Given the description of an element on the screen output the (x, y) to click on. 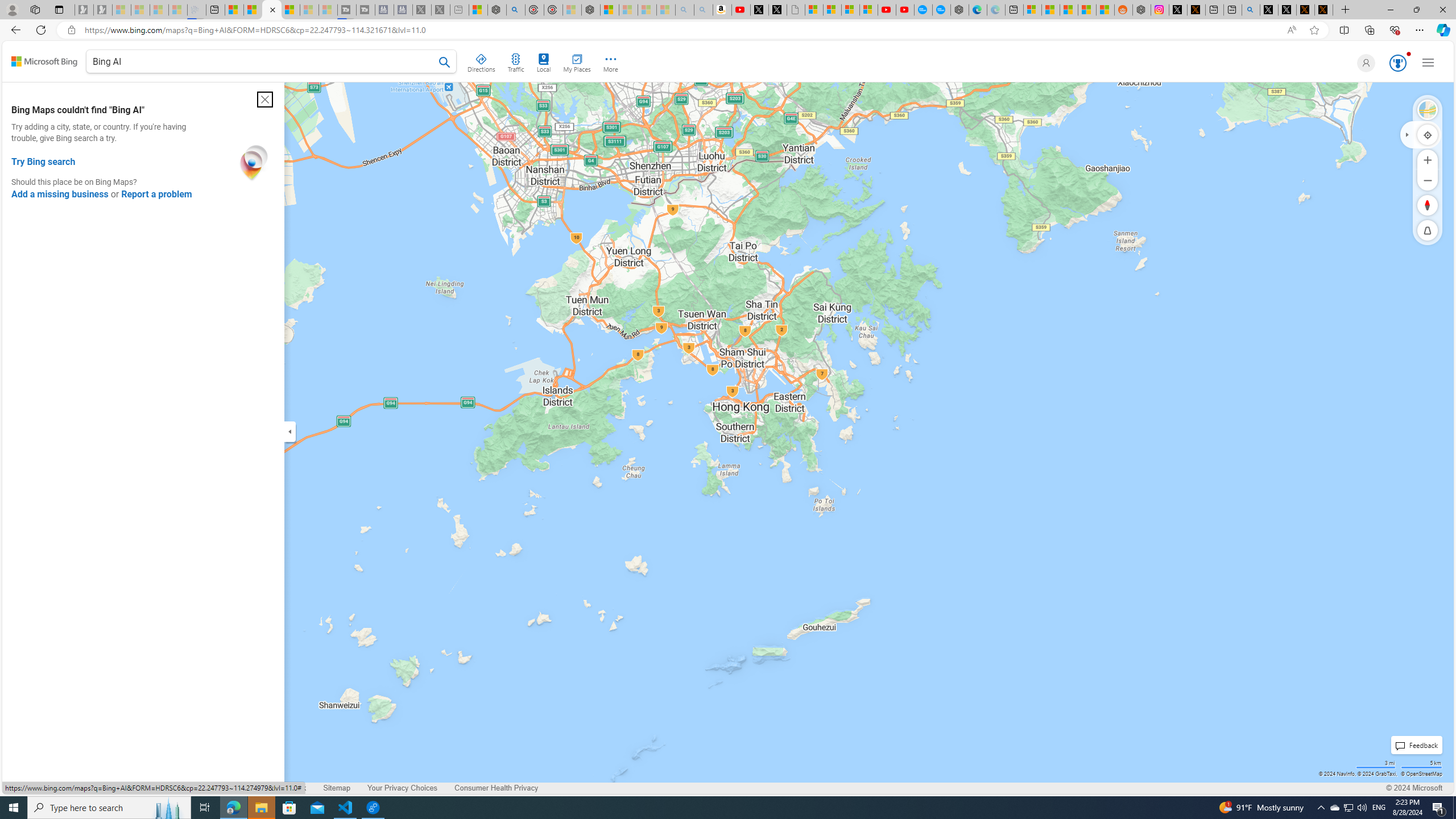
Newsletter Sign Up - Sleeping (102, 9)
help.x.com | 524: A timeout occurred (1195, 9)
Expand/Collapse Cards (289, 431)
Legal (103, 787)
Zoom Out (1427, 180)
Log in to X / X (1178, 9)
GitHub (@github) / X (1287, 9)
Consumer Health Privacy (496, 787)
Locate me (1427, 134)
